Given the description of an element on the screen output the (x, y) to click on. 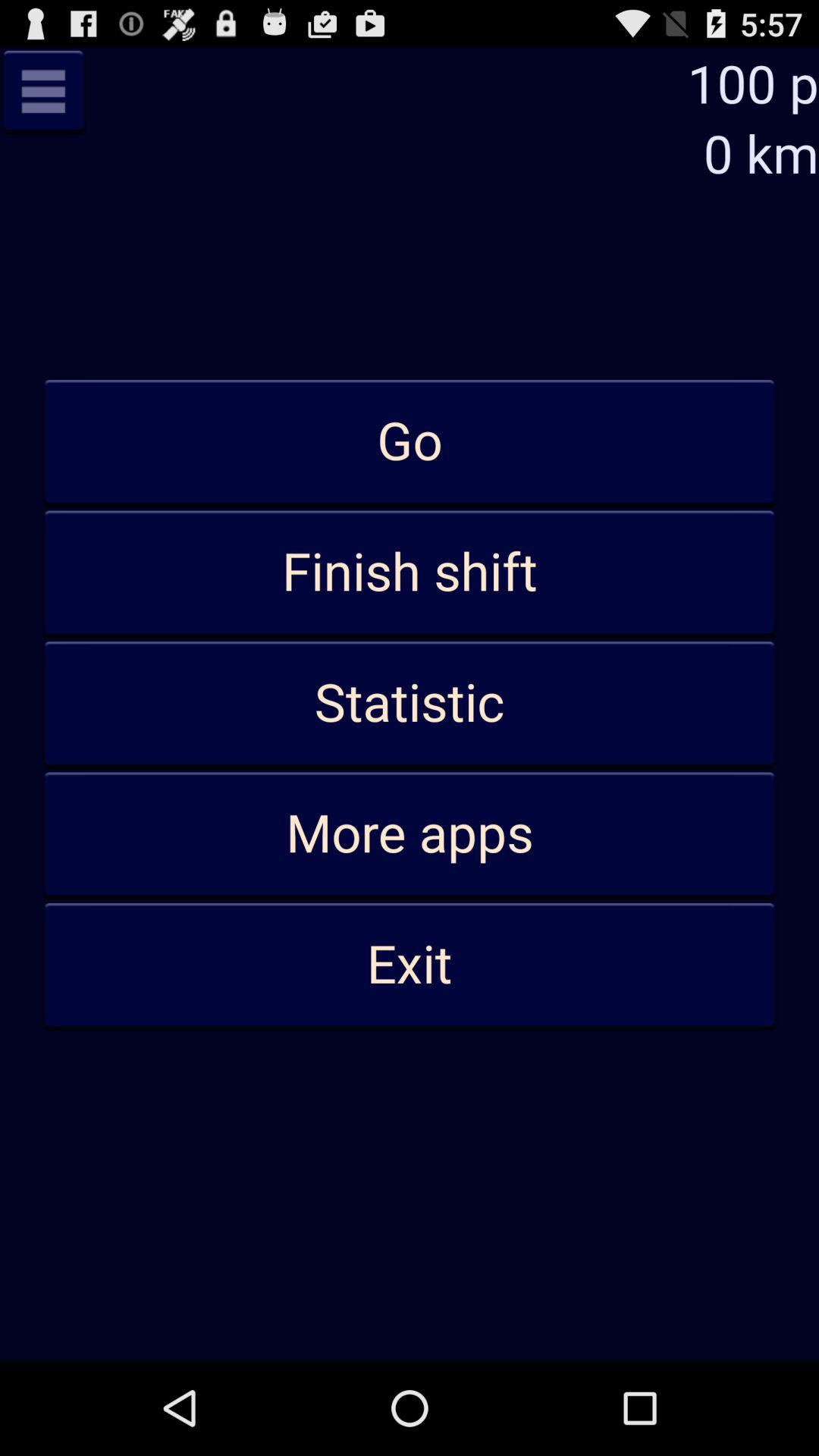
launch the exit icon (409, 965)
